Given the description of an element on the screen output the (x, y) to click on. 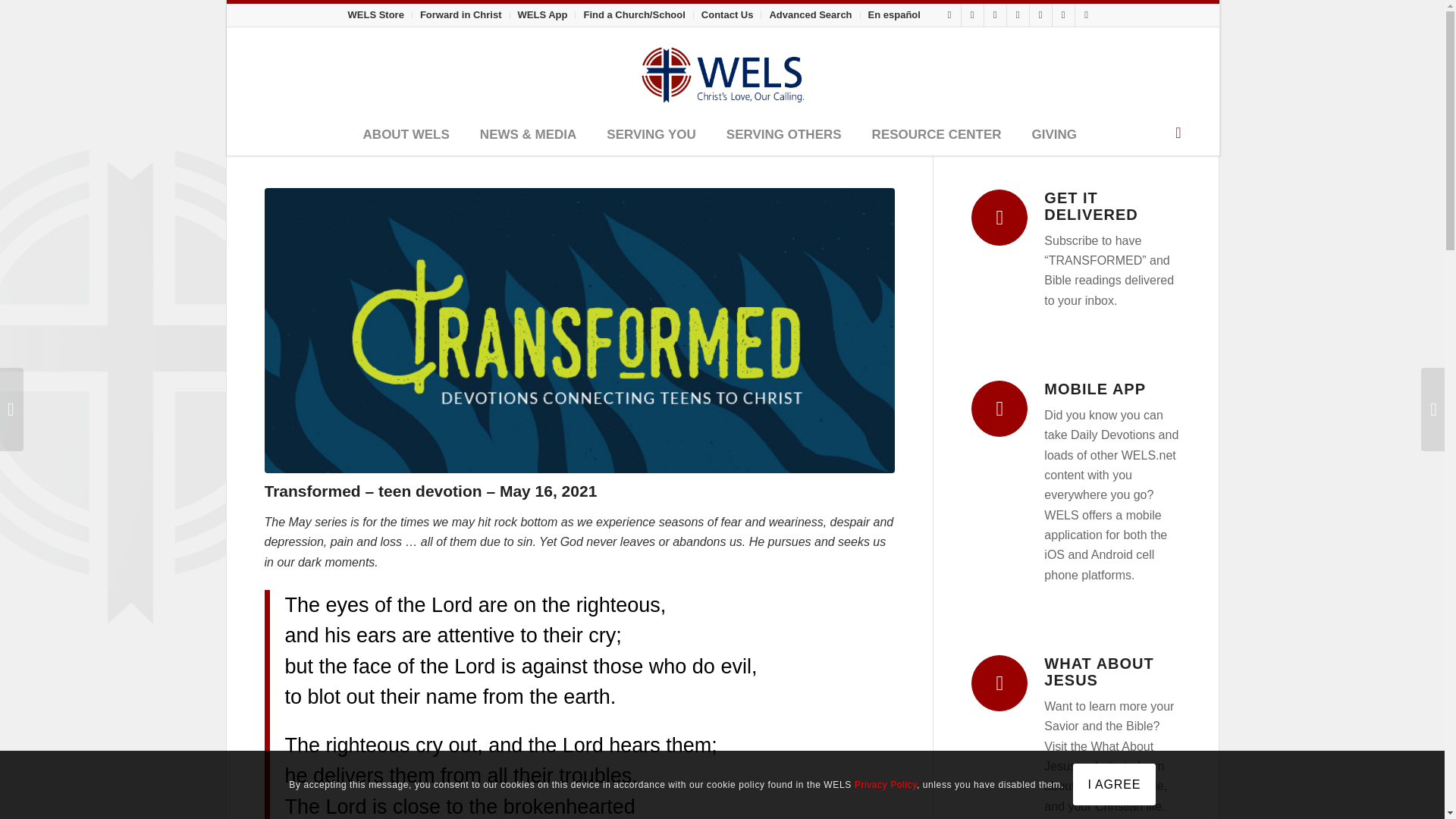
Instagram (972, 15)
WELS App (542, 14)
Forward in Christ (461, 14)
Contact Us (727, 14)
WELSnet-Logo-2021 (722, 71)
WELS Store (375, 14)
ABOUT WELS (405, 135)
Facebook (949, 15)
Advanced Search (809, 14)
